Given the description of an element on the screen output the (x, y) to click on. 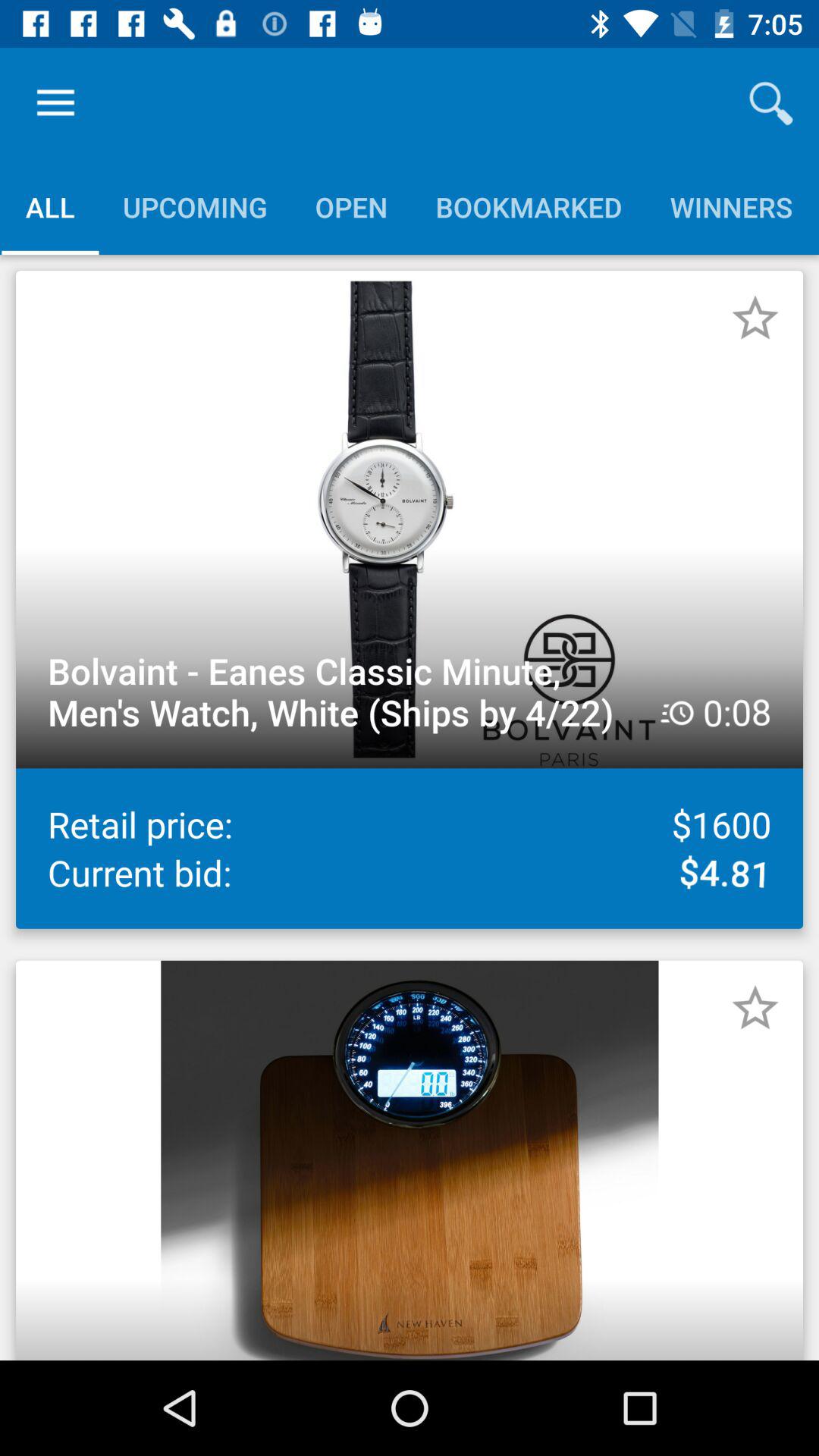
save as favourite (755, 1008)
